Given the description of an element on the screen output the (x, y) to click on. 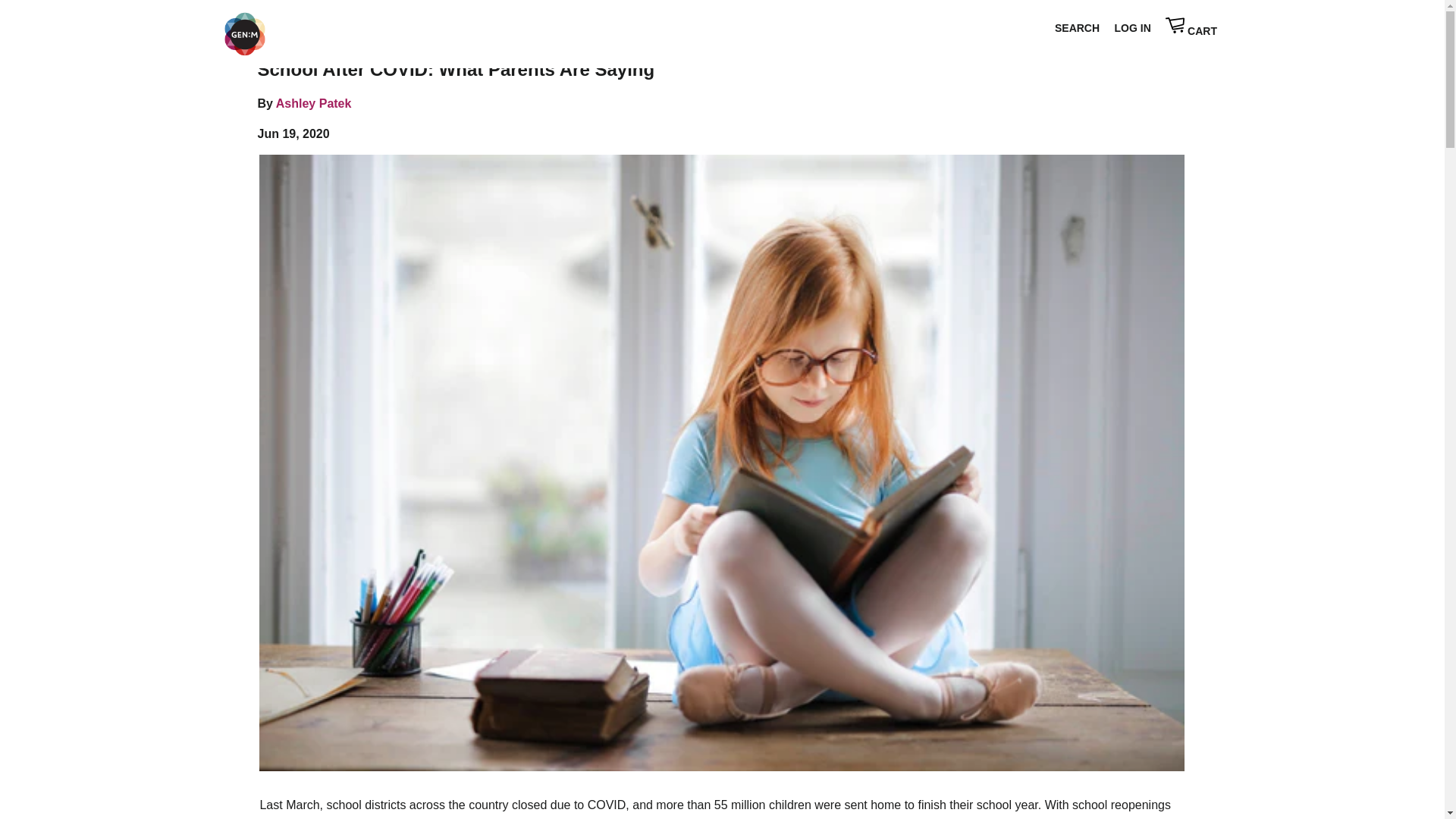
ASSET 1-CART (1175, 25)
